Given the description of an element on the screen output the (x, y) to click on. 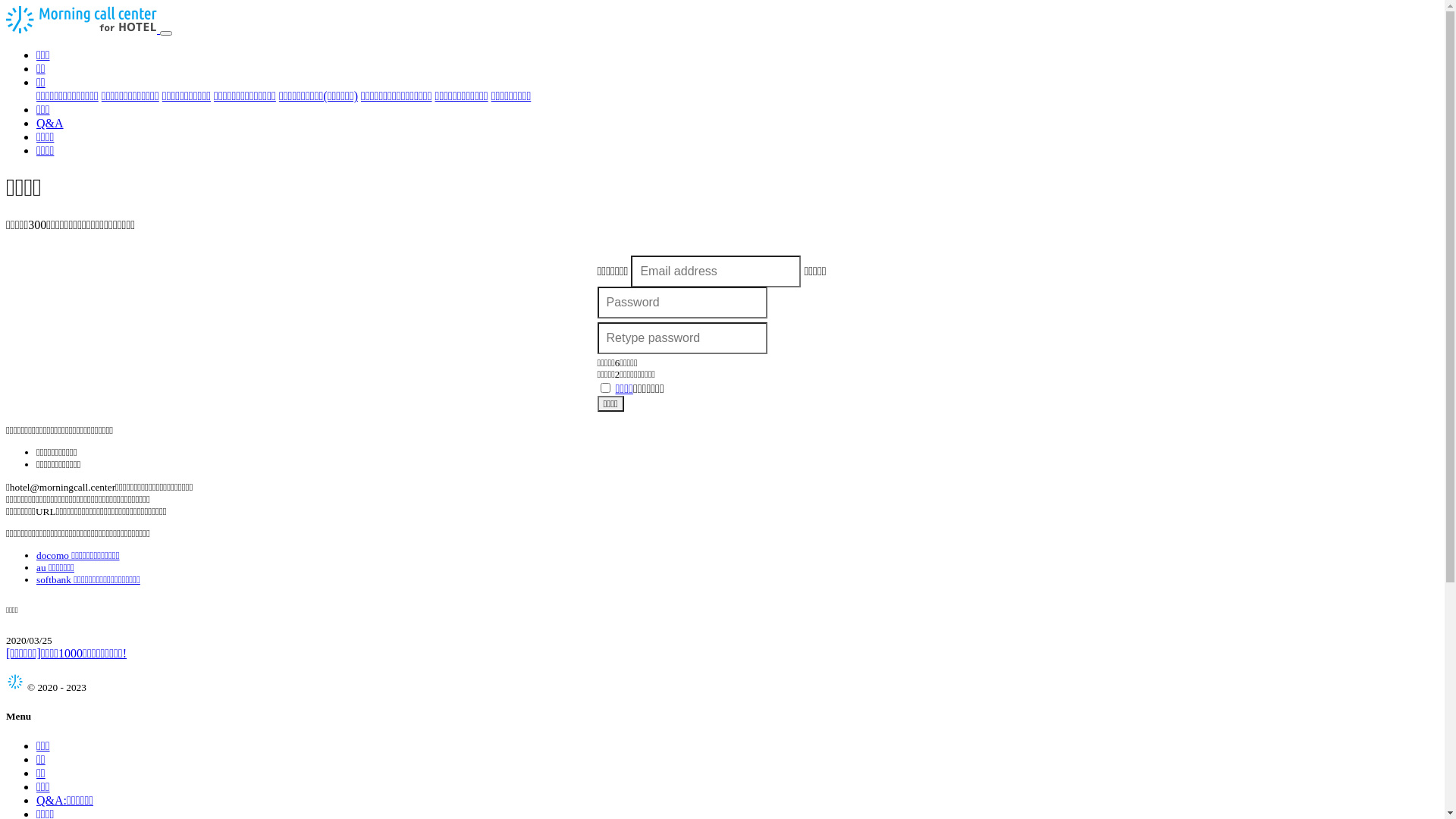
Q&A Element type: text (49, 122)
